Given the description of an element on the screen output the (x, y) to click on. 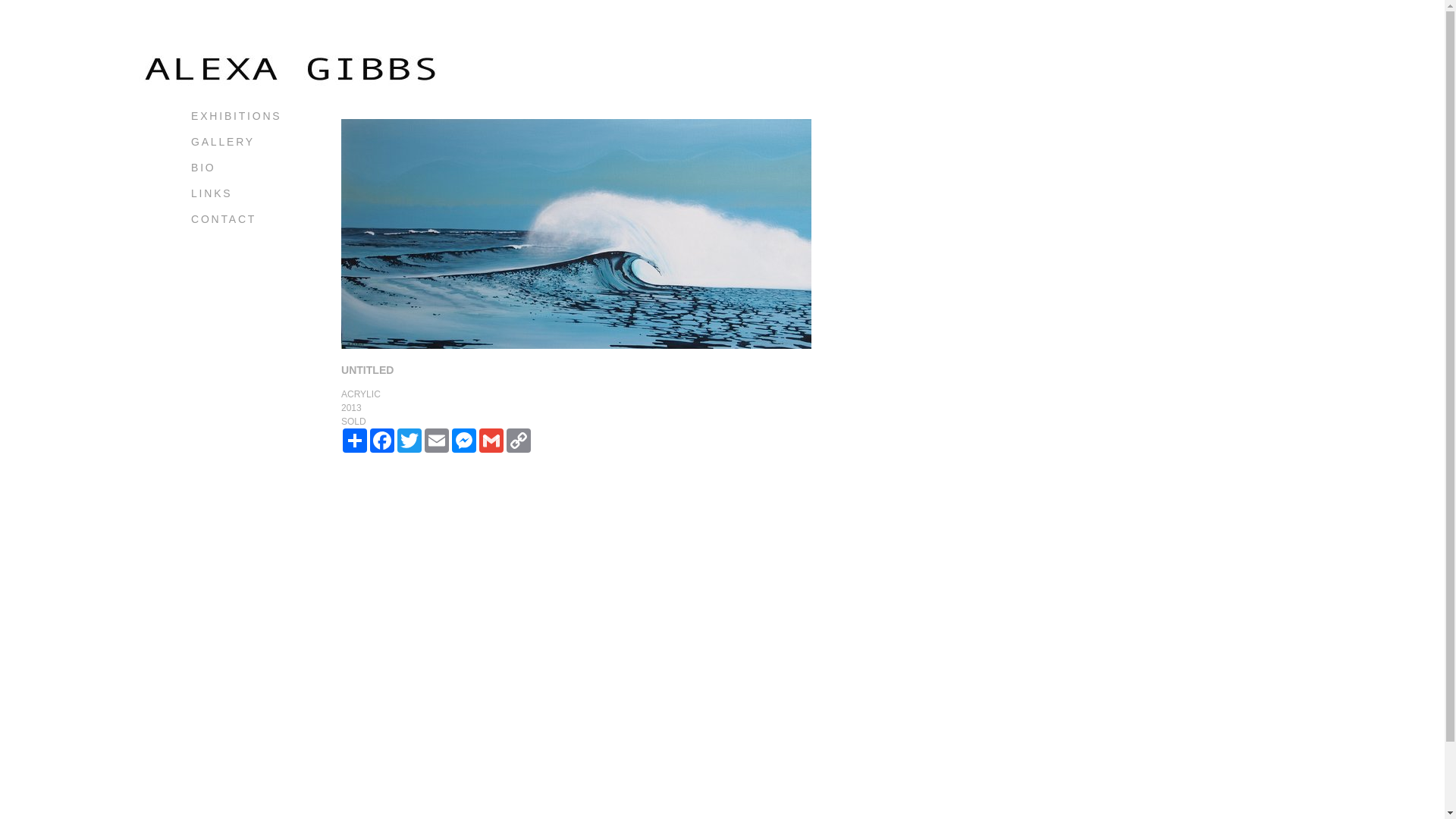
LOG IN Element type: text (215, 244)
LINKS Element type: text (211, 193)
CONTACT Element type: text (223, 219)
EXHIBITIONS Element type: text (236, 115)
GMAIL Element type: text (491, 440)
MESSENGER Element type: text (463, 440)
GALLERY Element type: text (222, 141)
SHARE Element type: text (354, 440)
COPY LINK Element type: text (518, 440)
EMAIL Element type: text (436, 440)
BIO Element type: text (203, 167)
FACEBOOK Element type: text (381, 440)
TWITTER Element type: text (409, 440)
